Given the description of an element on the screen output the (x, y) to click on. 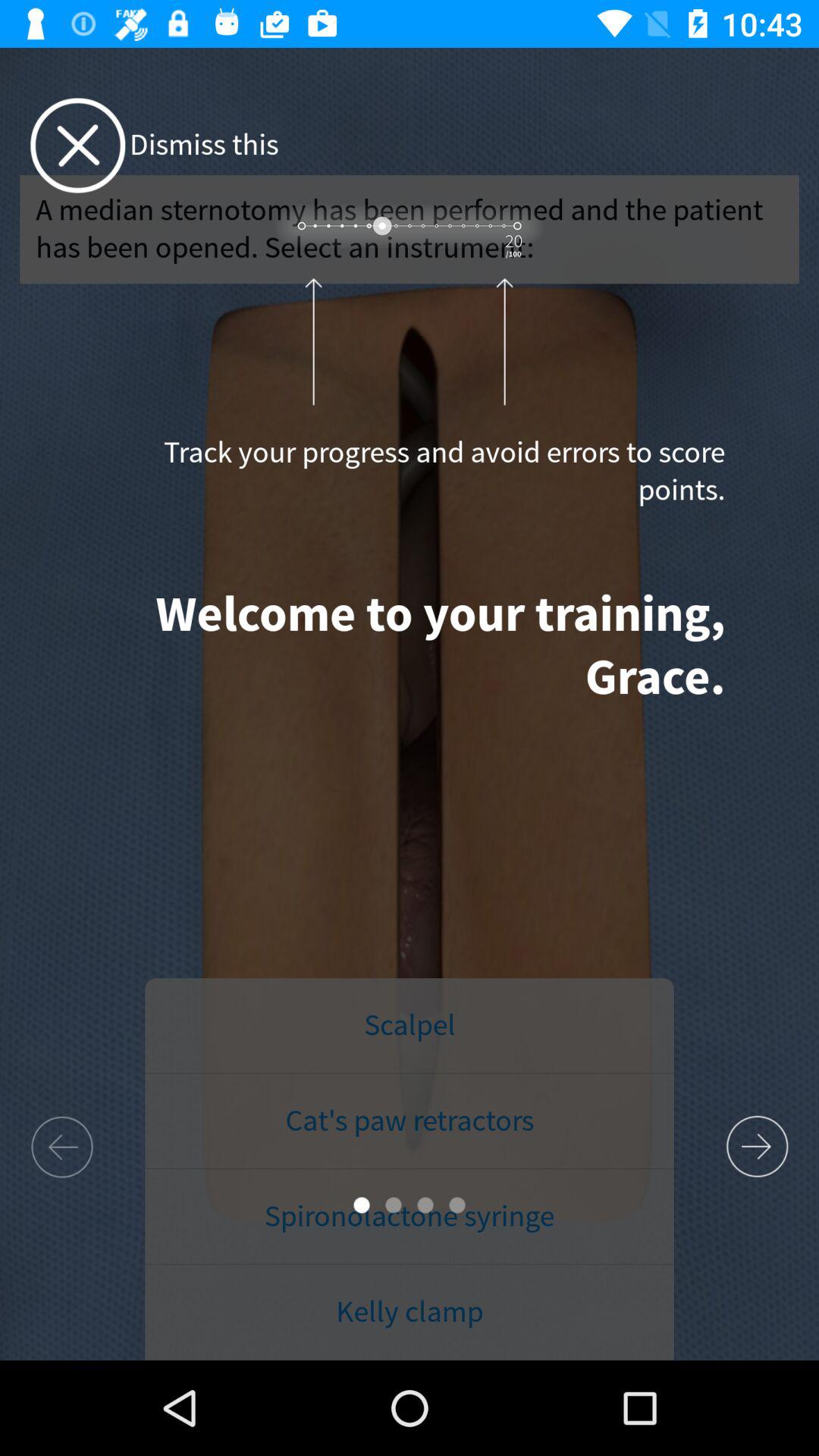
select icon above the cat s paw (409, 1025)
